Given the description of an element on the screen output the (x, y) to click on. 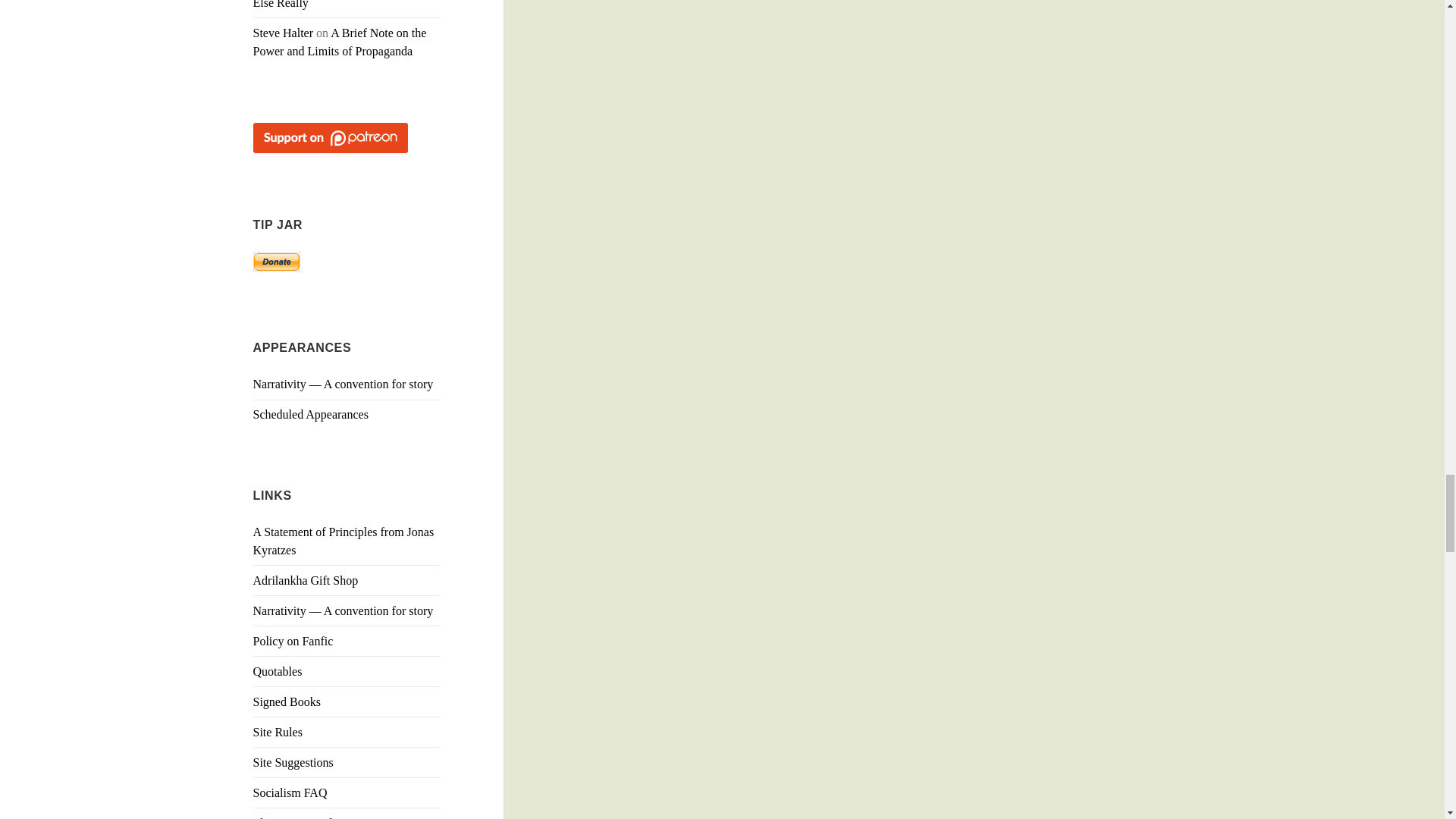
A small convention devoted to the craft of story telling. (343, 383)
Where to find me IRL (310, 413)
The easiest way to get a signed book from me. (286, 701)
A small convention devoted to the craft of story telling. (343, 610)
